Given the description of an element on the screen output the (x, y) to click on. 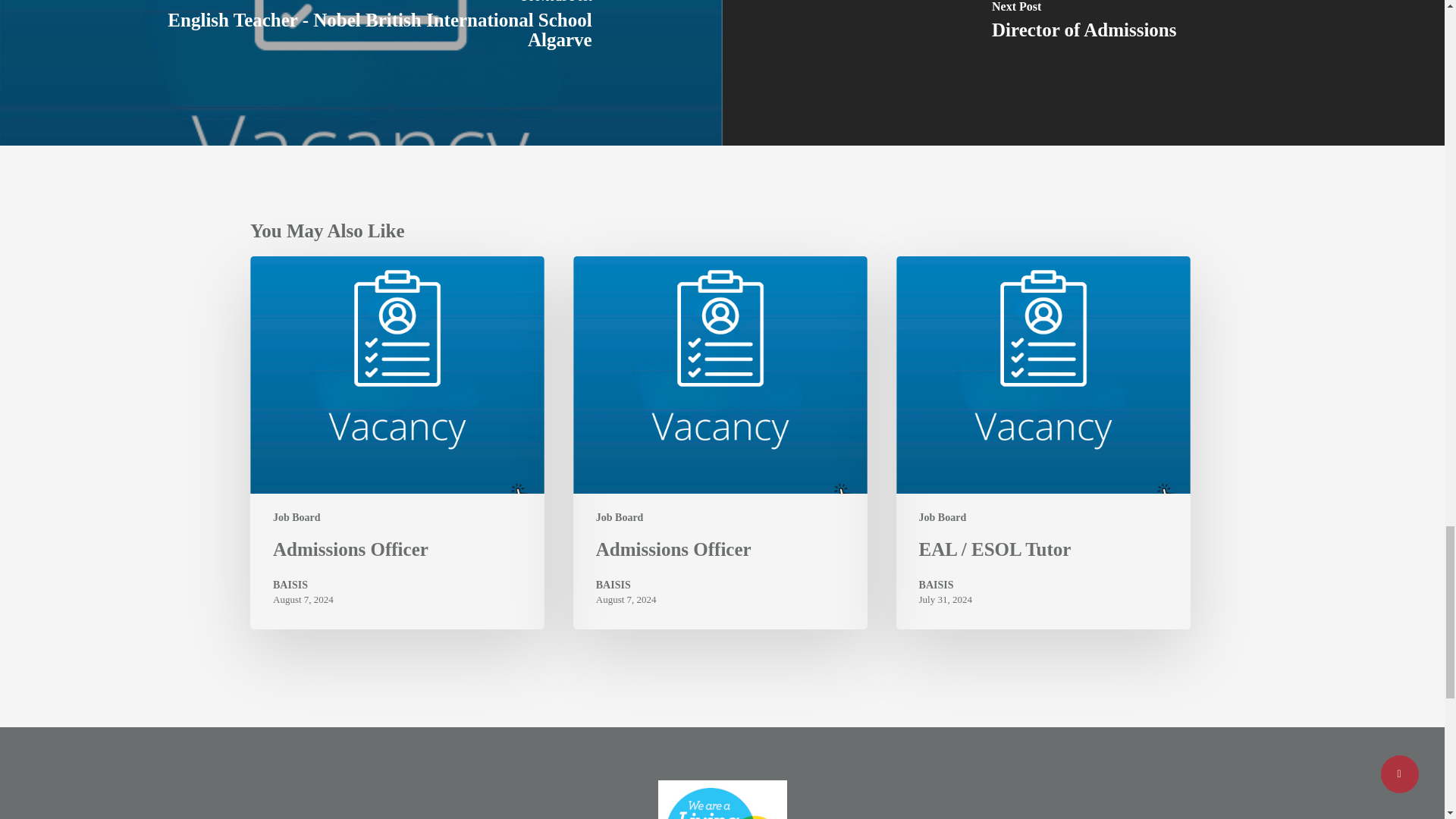
Job Board (942, 517)
BAISIS (625, 585)
Job Board (619, 517)
BAISIS (303, 585)
Job Board (296, 517)
